Given the description of an element on the screen output the (x, y) to click on. 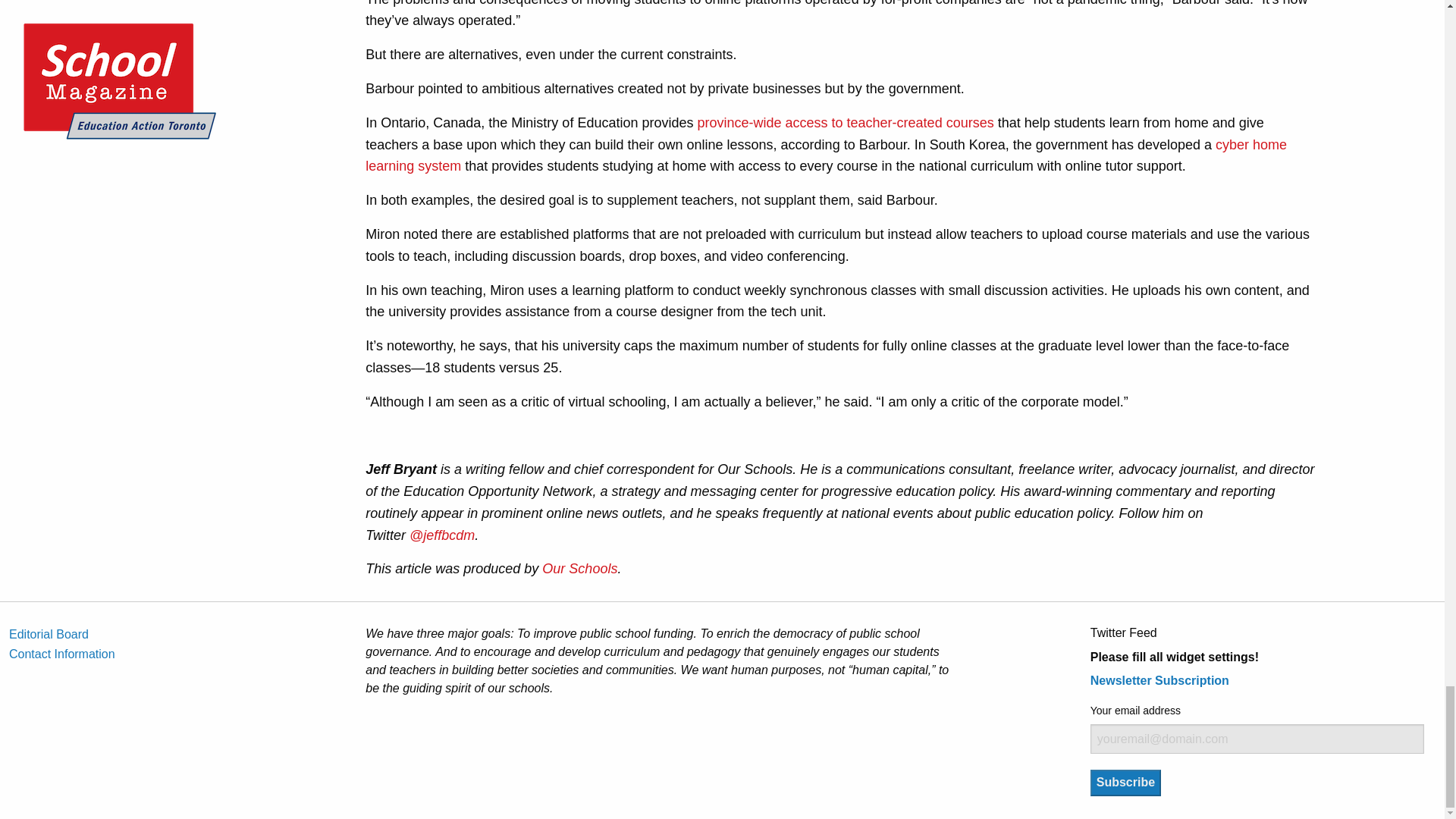
Subscribe (1125, 782)
